Given the description of an element on the screen output the (x, y) to click on. 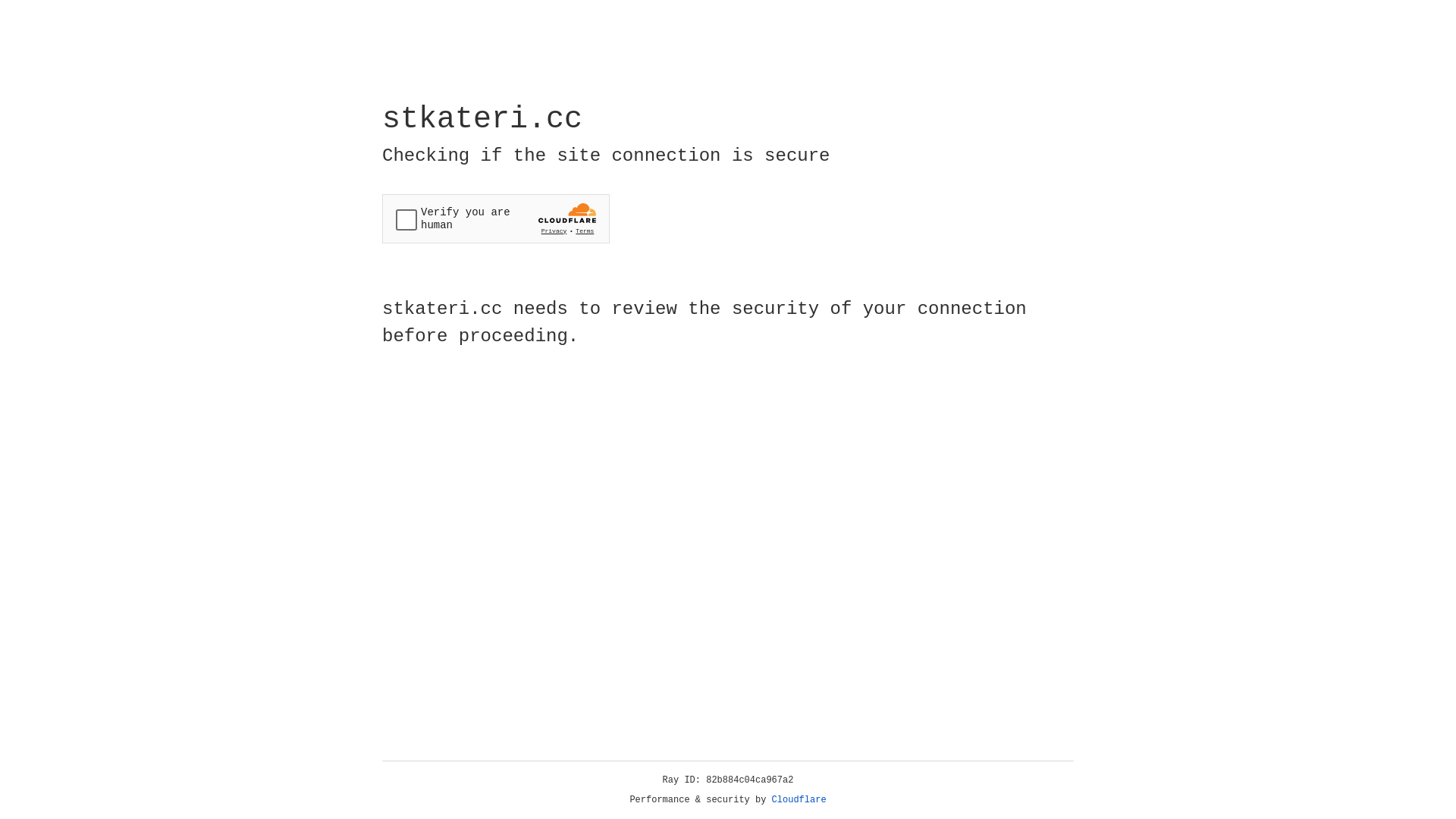
Cloudflare Element type: text (798, 799)
Widget containing a Cloudflare security challenge Element type: hover (495, 218)
